Given the description of an element on the screen output the (x, y) to click on. 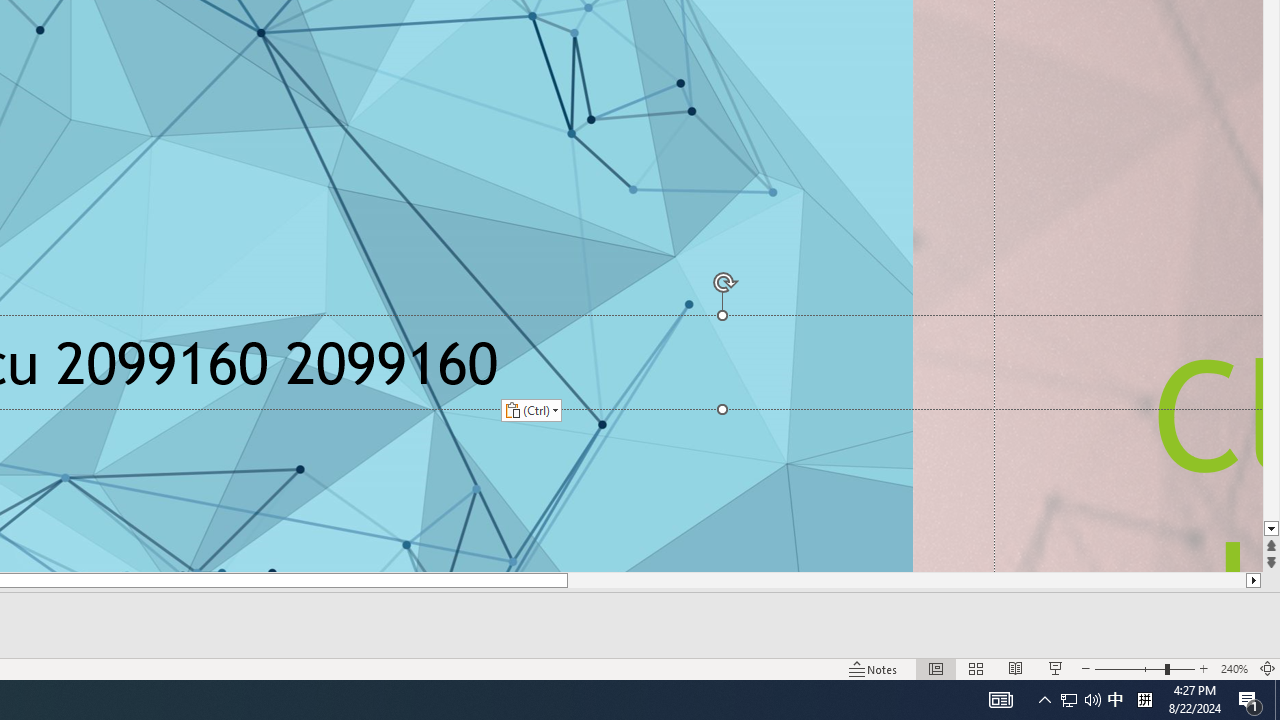
Action: Paste alternatives (530, 409)
Zoom 240% (1234, 668)
